Given the description of an element on the screen output the (x, y) to click on. 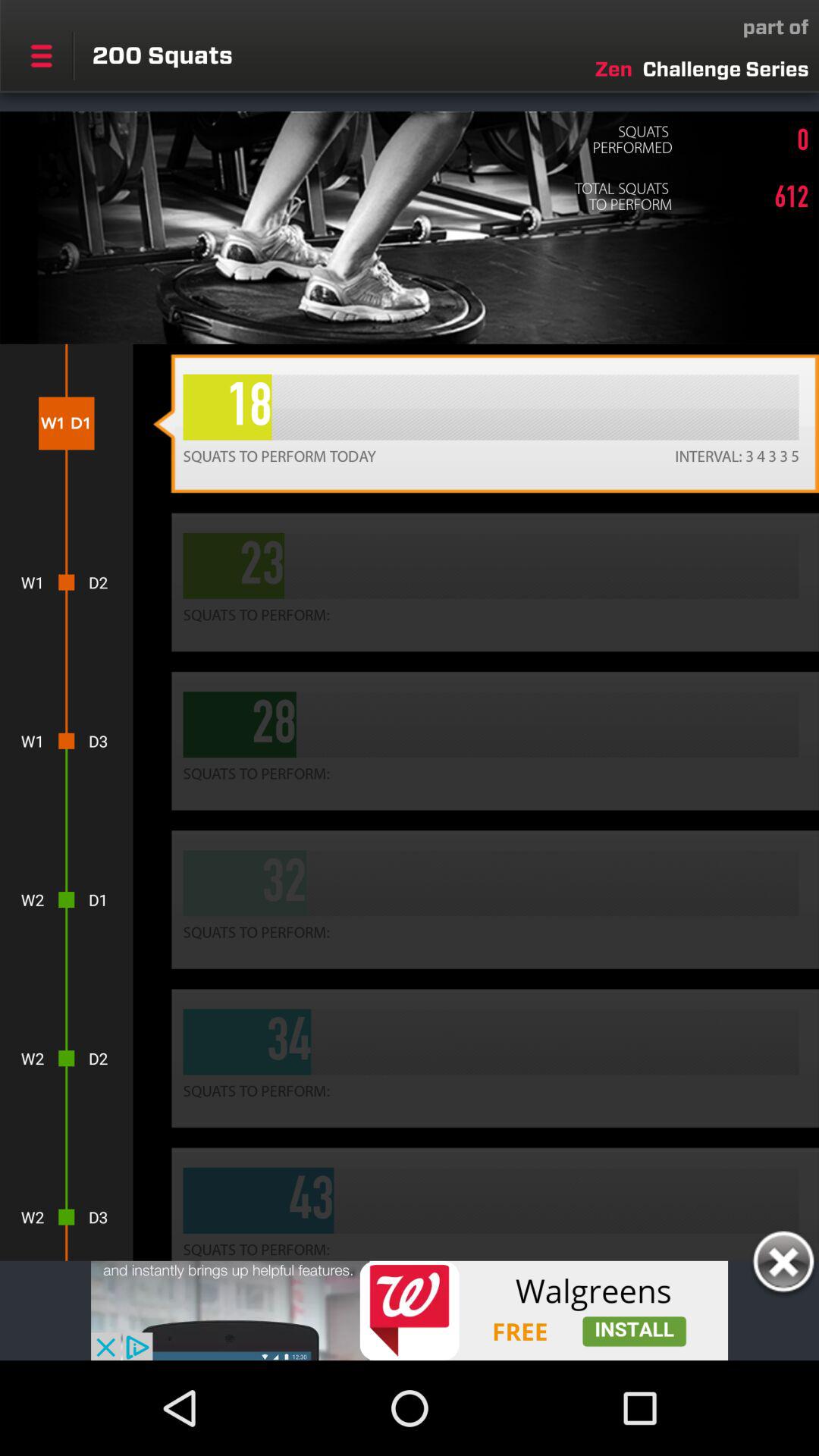
close (783, 1264)
